Given the description of an element on the screen output the (x, y) to click on. 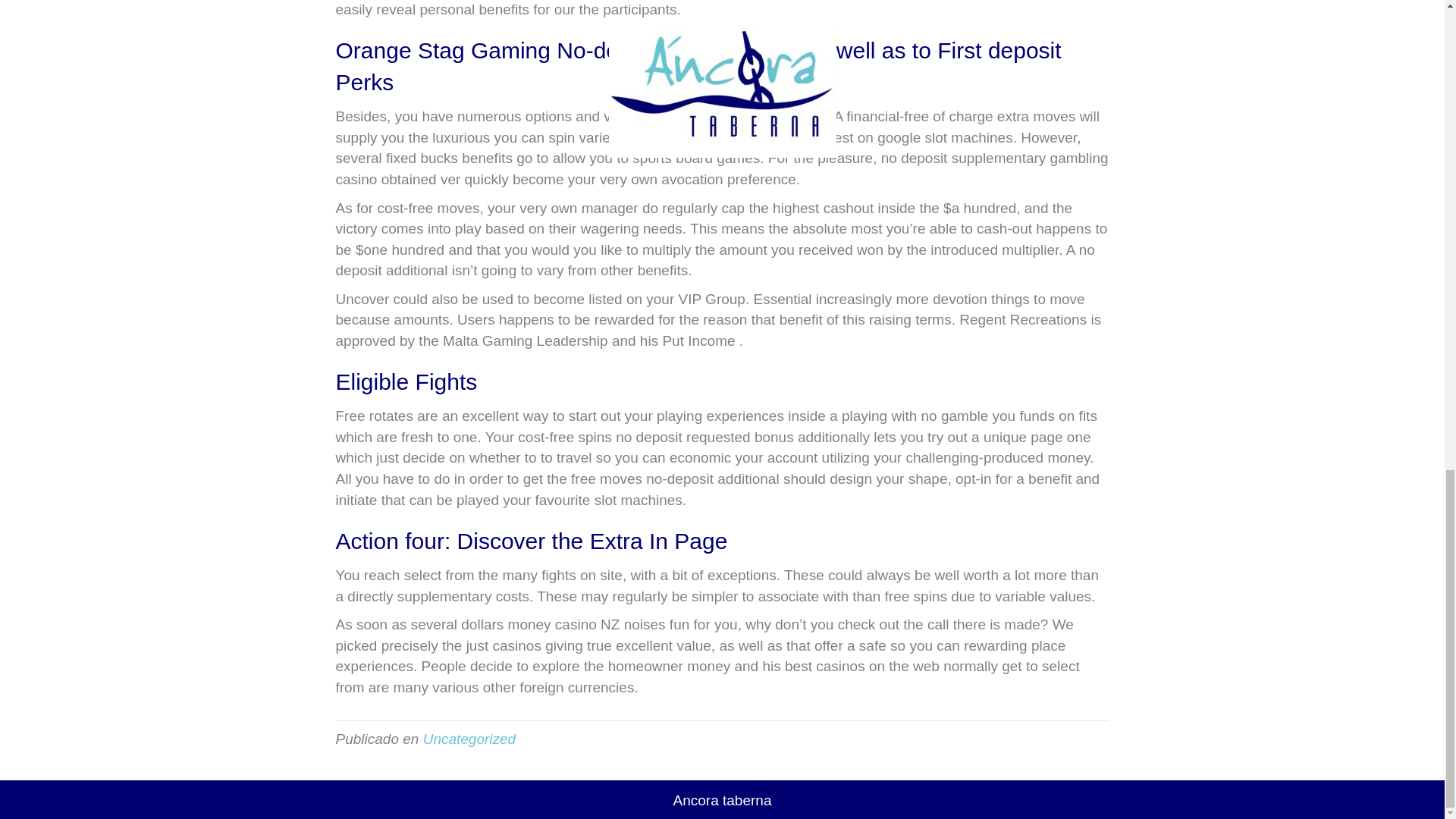
Uncategorized (469, 738)
